Given the description of an element on the screen output the (x, y) to click on. 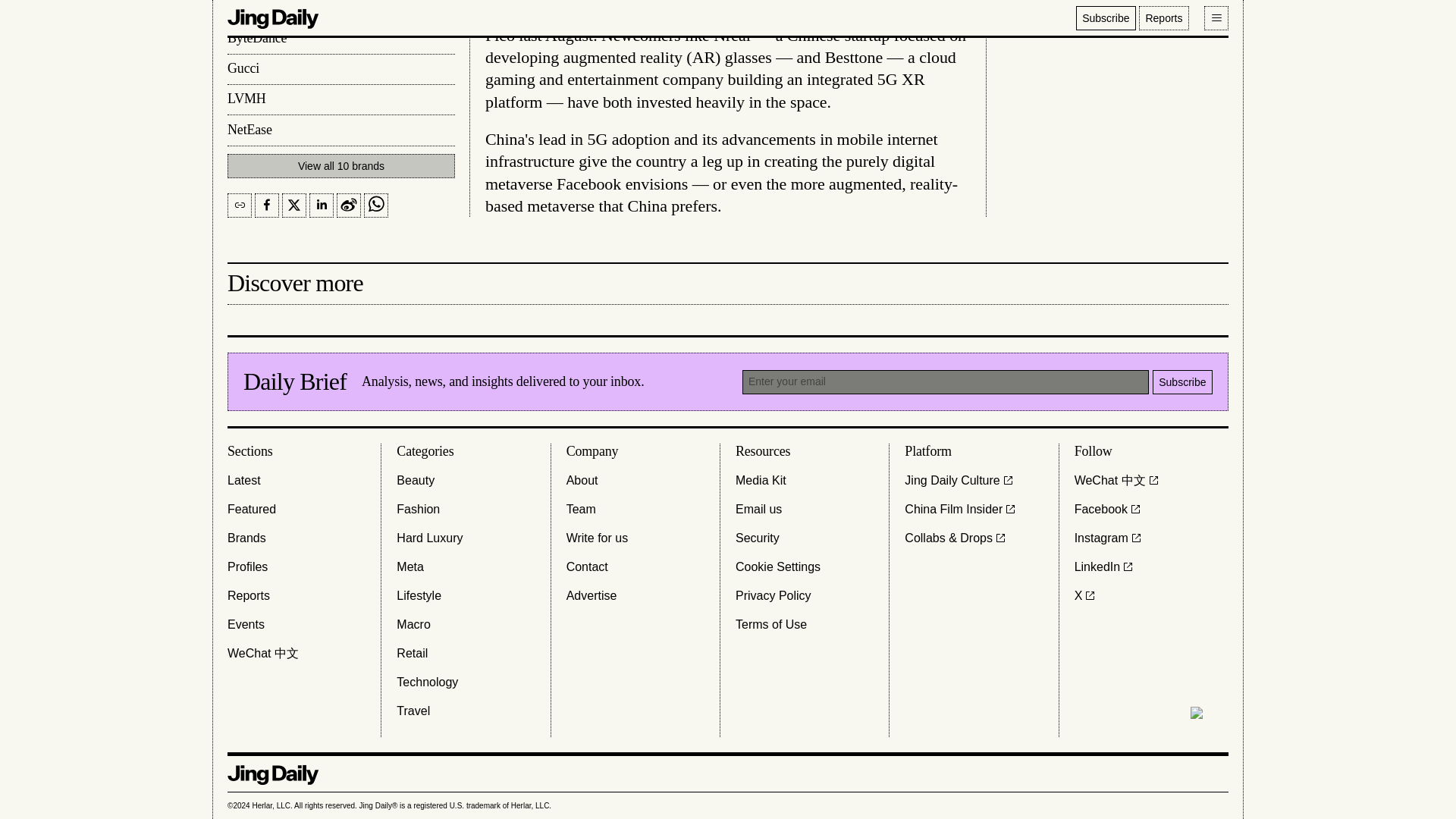
Fashion (417, 509)
Meta (409, 567)
Brands (246, 537)
Reports (248, 595)
Lifestyle (418, 595)
Profiles (247, 567)
Macro (412, 624)
Events (245, 624)
Featured (251, 509)
Latest (243, 480)
Latest (243, 480)
WeChat (262, 653)
Fashion (417, 509)
Travel (412, 711)
Featured (251, 509)
